Given the description of an element on the screen output the (x, y) to click on. 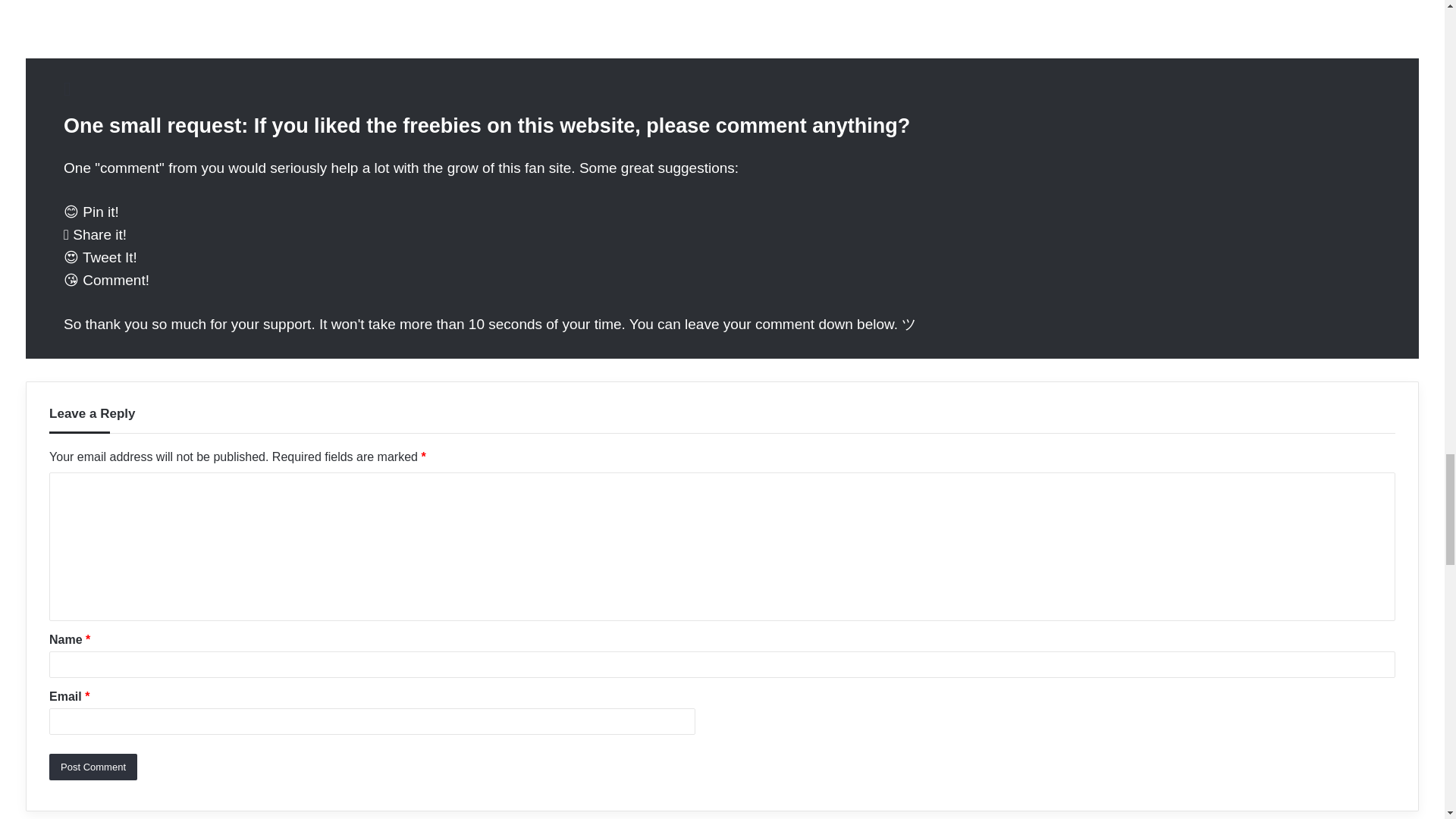
Post Comment (92, 766)
